Given the description of an element on the screen output the (x, y) to click on. 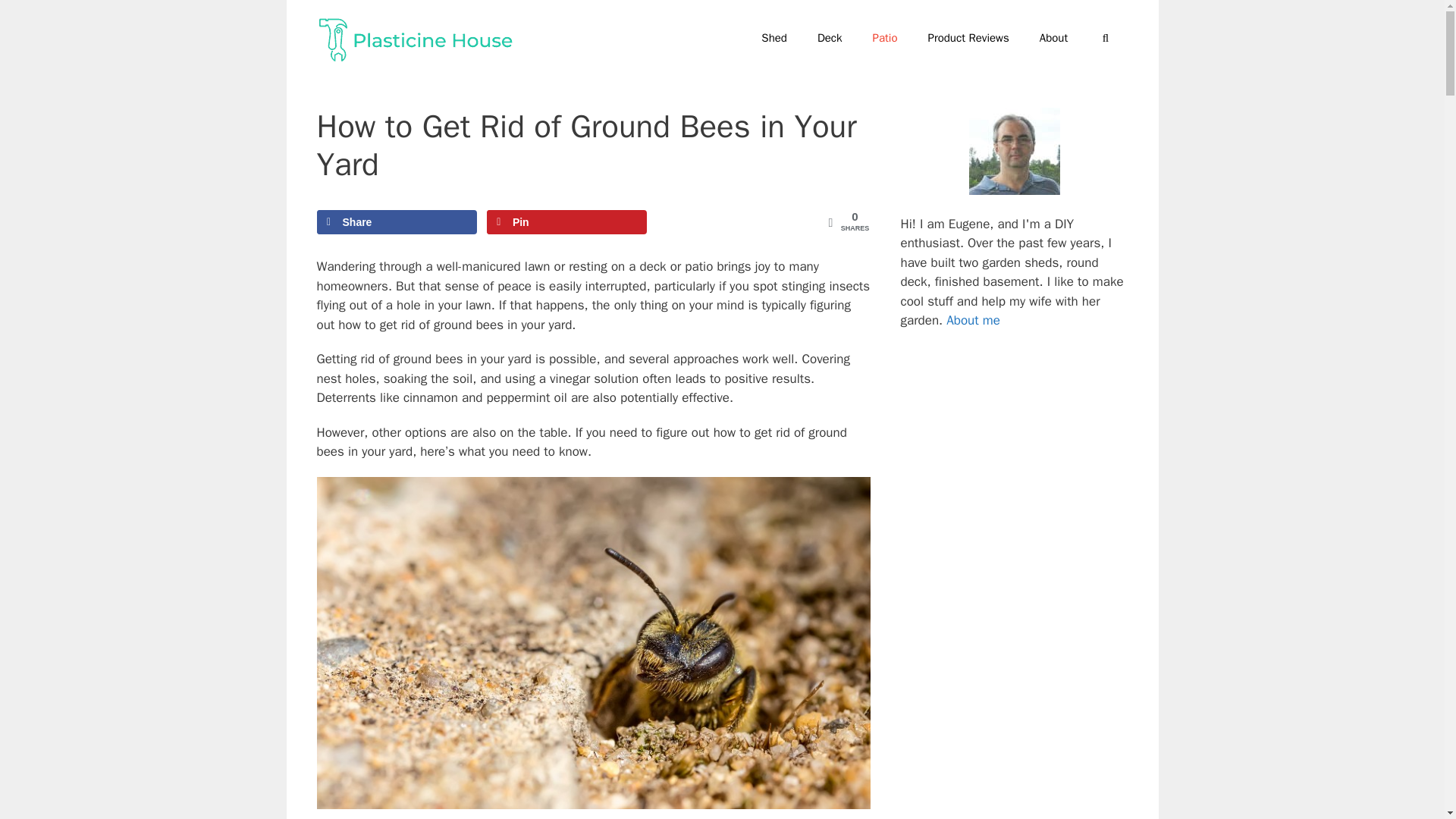
Shed (773, 37)
Product Reviews (968, 37)
Deck (829, 37)
About (1054, 37)
Share (397, 221)
Pin (566, 221)
Patio (884, 37)
